Given the description of an element on the screen output the (x, y) to click on. 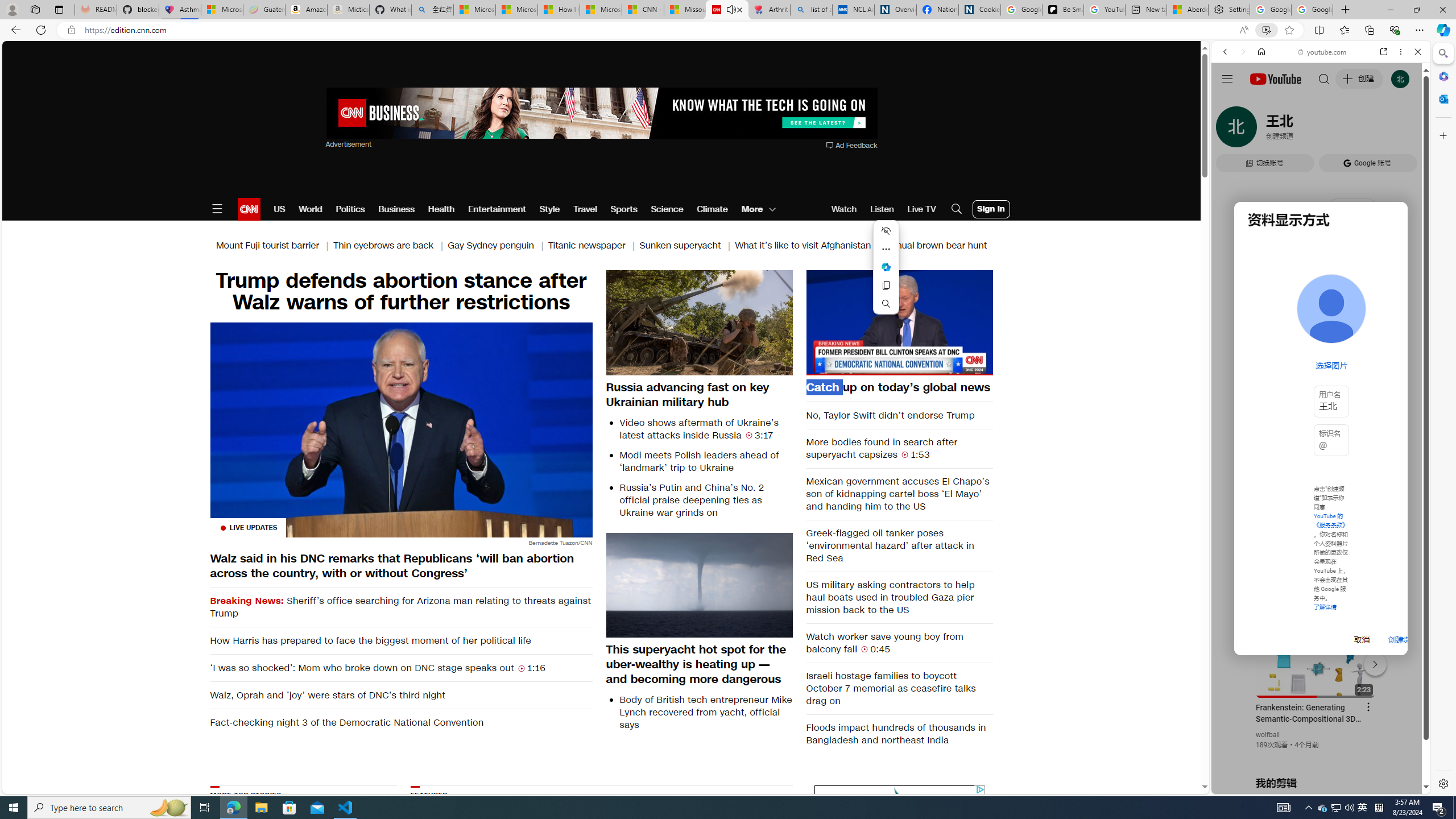
Annual brown bear hunt (936, 245)
Captions Unavailable (927, 365)
Options (952, 365)
User Account Log In Button (991, 208)
Cookies (979, 9)
